Given the description of an element on the screen output the (x, y) to click on. 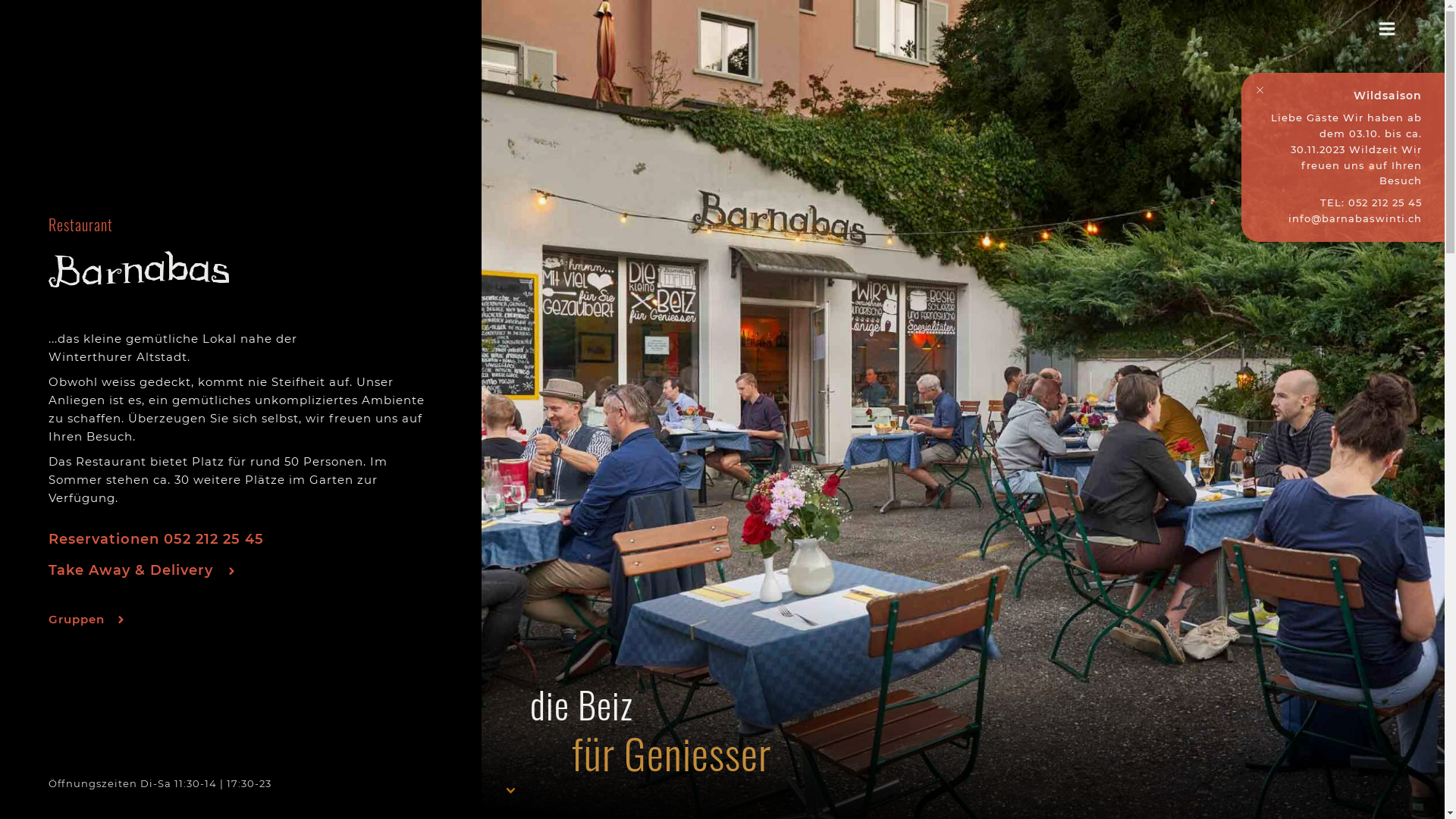
Gruppen Element type: text (86, 619)
Reservationen 052 212 25 45 Element type: text (155, 539)
Take Away & Delivery Element type: text (141, 570)
